Given the description of an element on the screen output the (x, y) to click on. 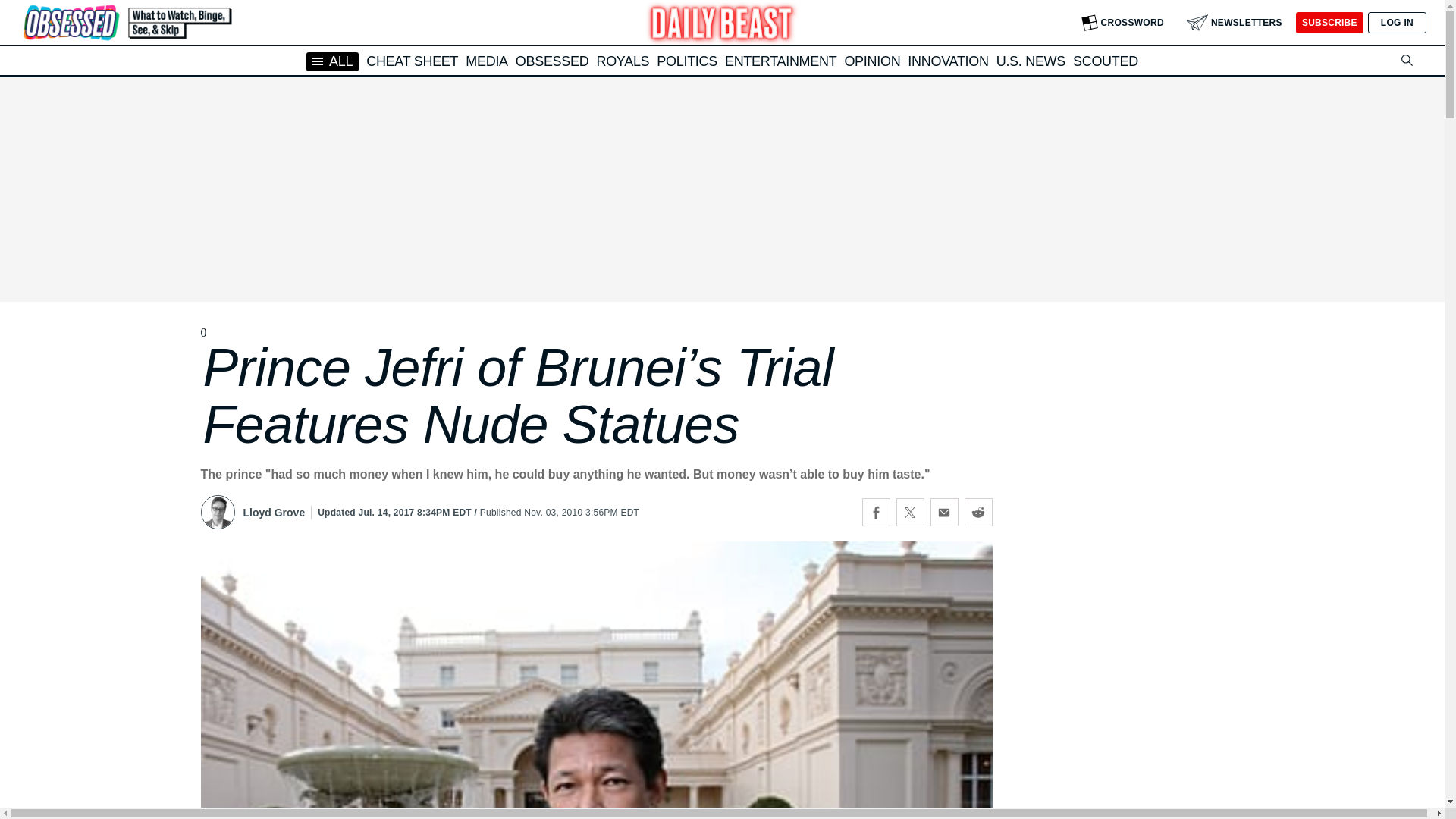
U.S. NEWS (1030, 60)
OPINION (871, 60)
CHEAT SHEET (412, 60)
LOG IN (1397, 22)
ALL (331, 60)
POLITICS (686, 60)
MEDIA (486, 60)
ENTERTAINMENT (780, 60)
